Given the description of an element on the screen output the (x, y) to click on. 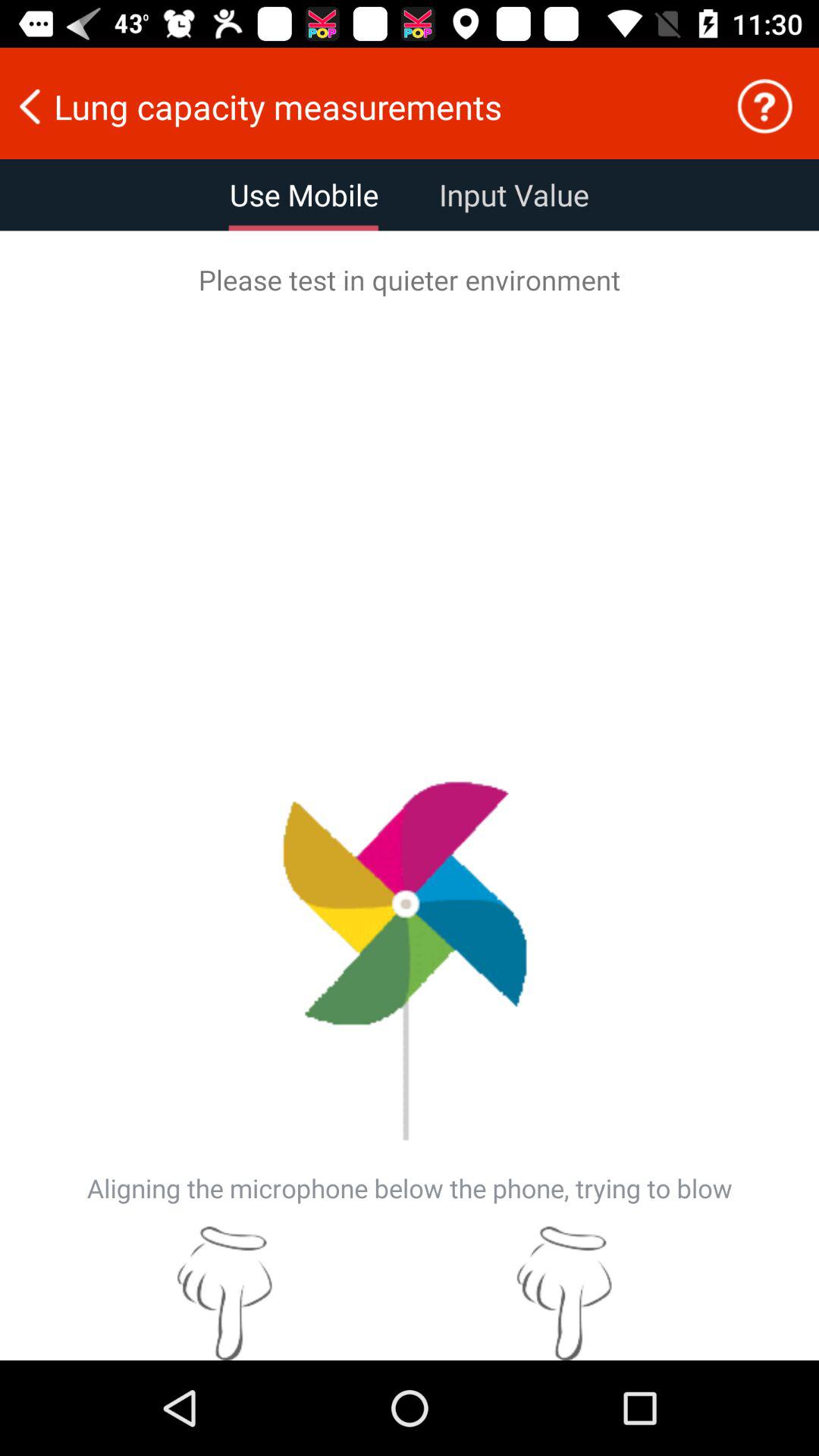
select icon at the top right corner (764, 106)
